Given the description of an element on the screen output the (x, y) to click on. 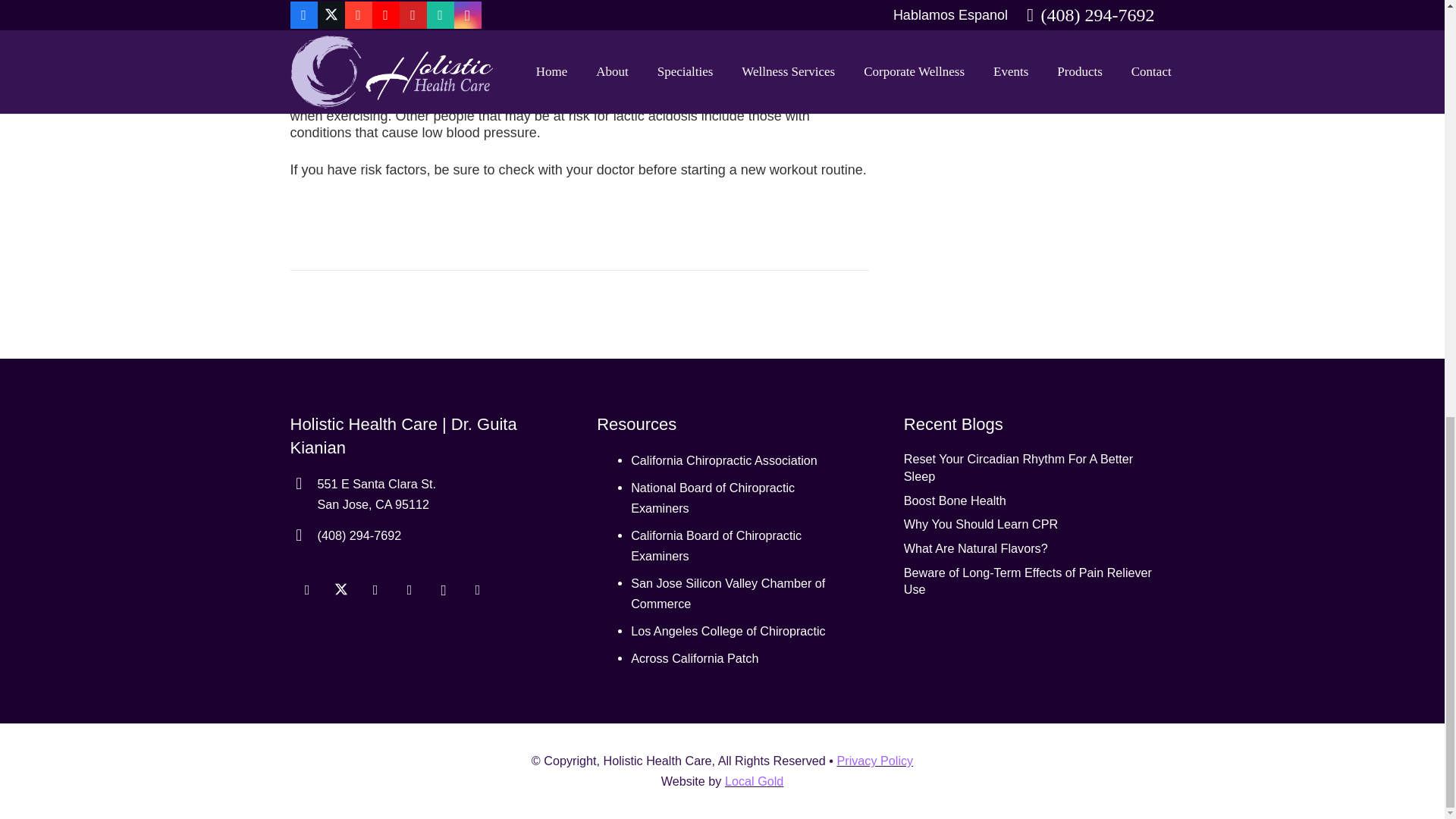
Facebook (306, 590)
Twitter (341, 590)
Google (374, 590)
